Given the description of an element on the screen output the (x, y) to click on. 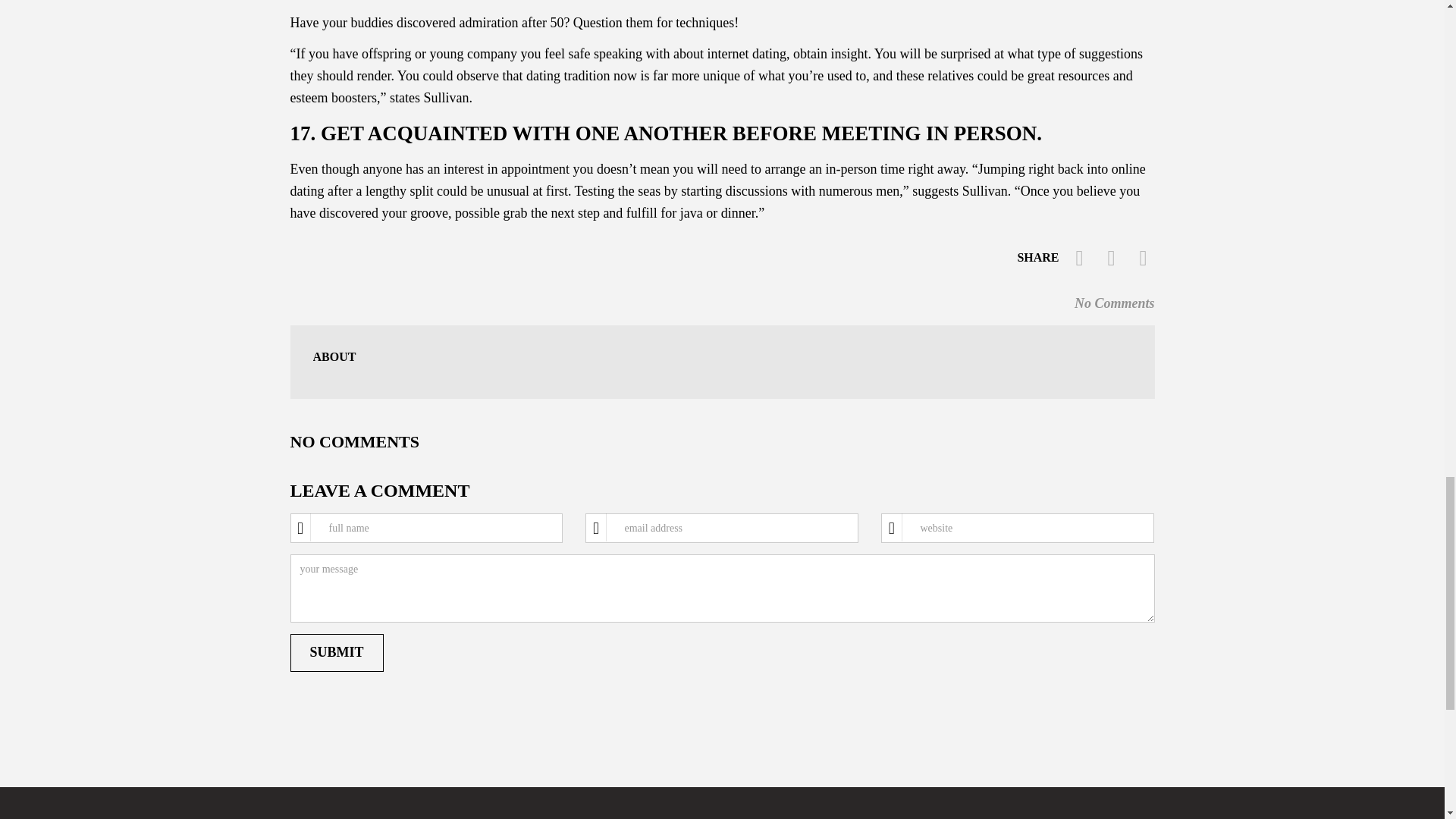
Submit (335, 652)
Submit (335, 652)
